Given the description of an element on the screen output the (x, y) to click on. 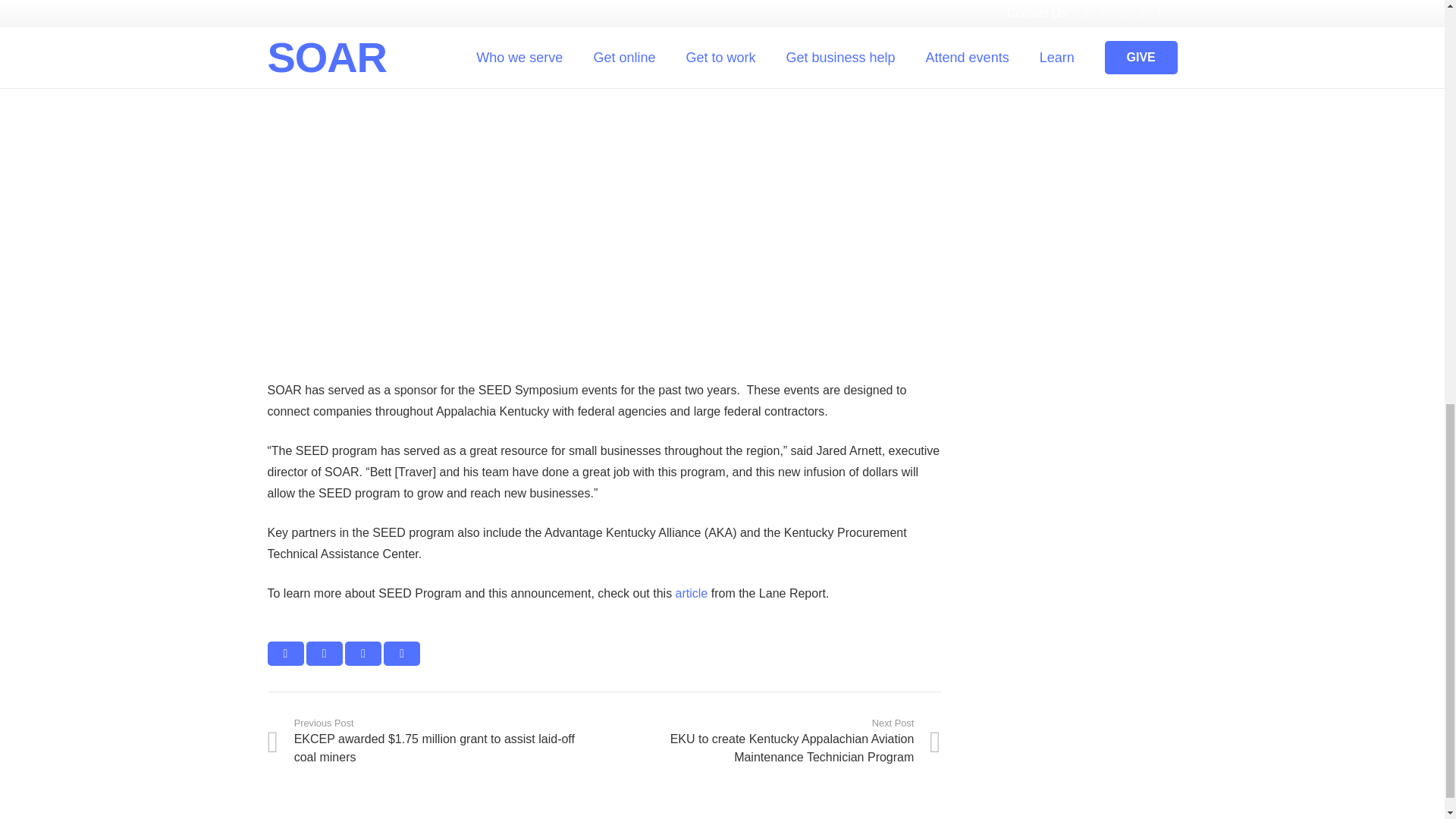
Share this (323, 653)
Tweet this (363, 653)
Share this (402, 653)
article (691, 593)
Email this (284, 653)
